Given the description of an element on the screen output the (x, y) to click on. 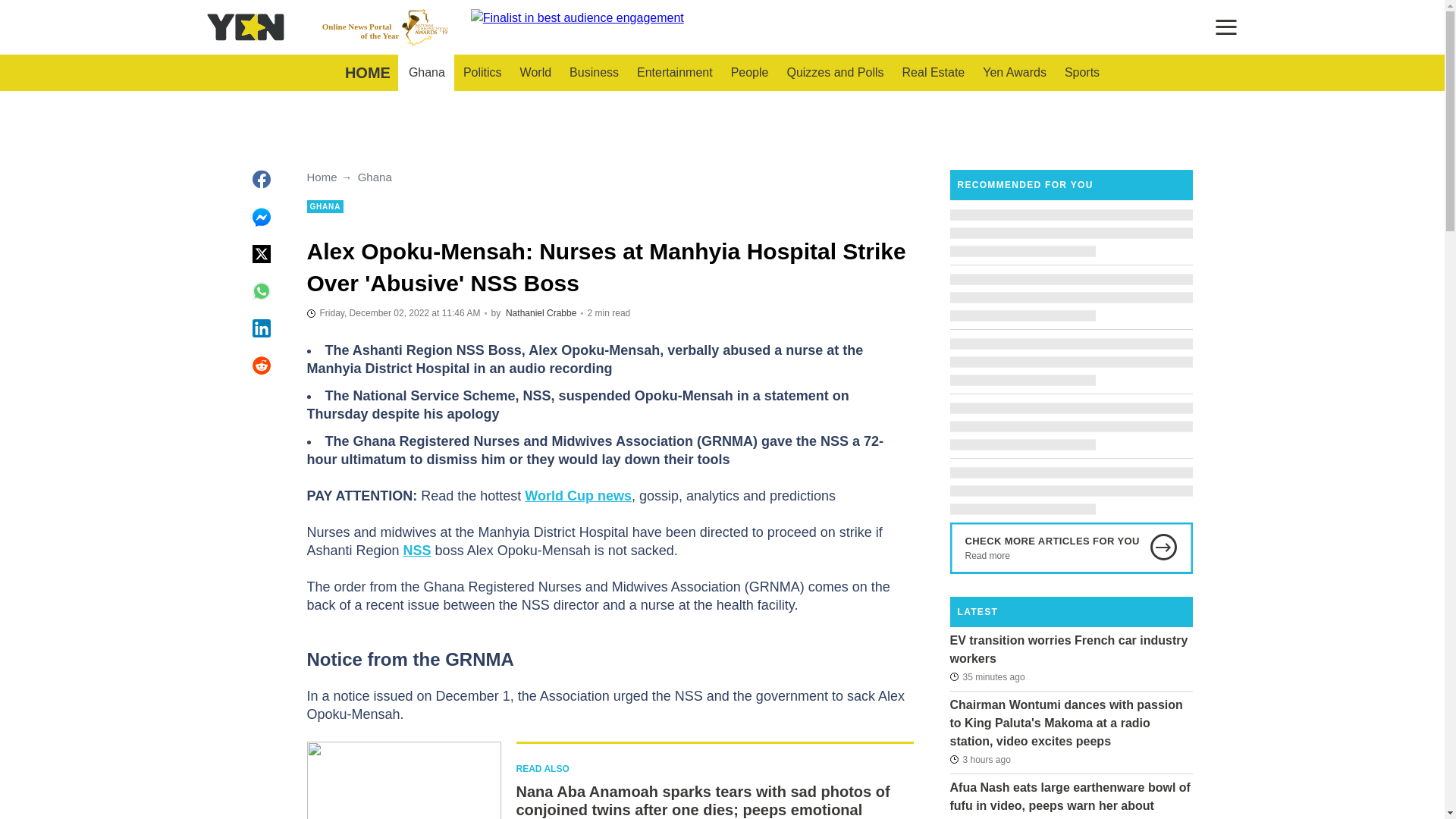
Author page (540, 312)
Business (593, 72)
Yen Awards (1014, 72)
Politics (482, 72)
Entertainment (674, 72)
HOME (367, 72)
World (535, 72)
Ghana (426, 72)
2022-12-02T11:46:23Z (392, 312)
Sports (1081, 72)
